Given the description of an element on the screen output the (x, y) to click on. 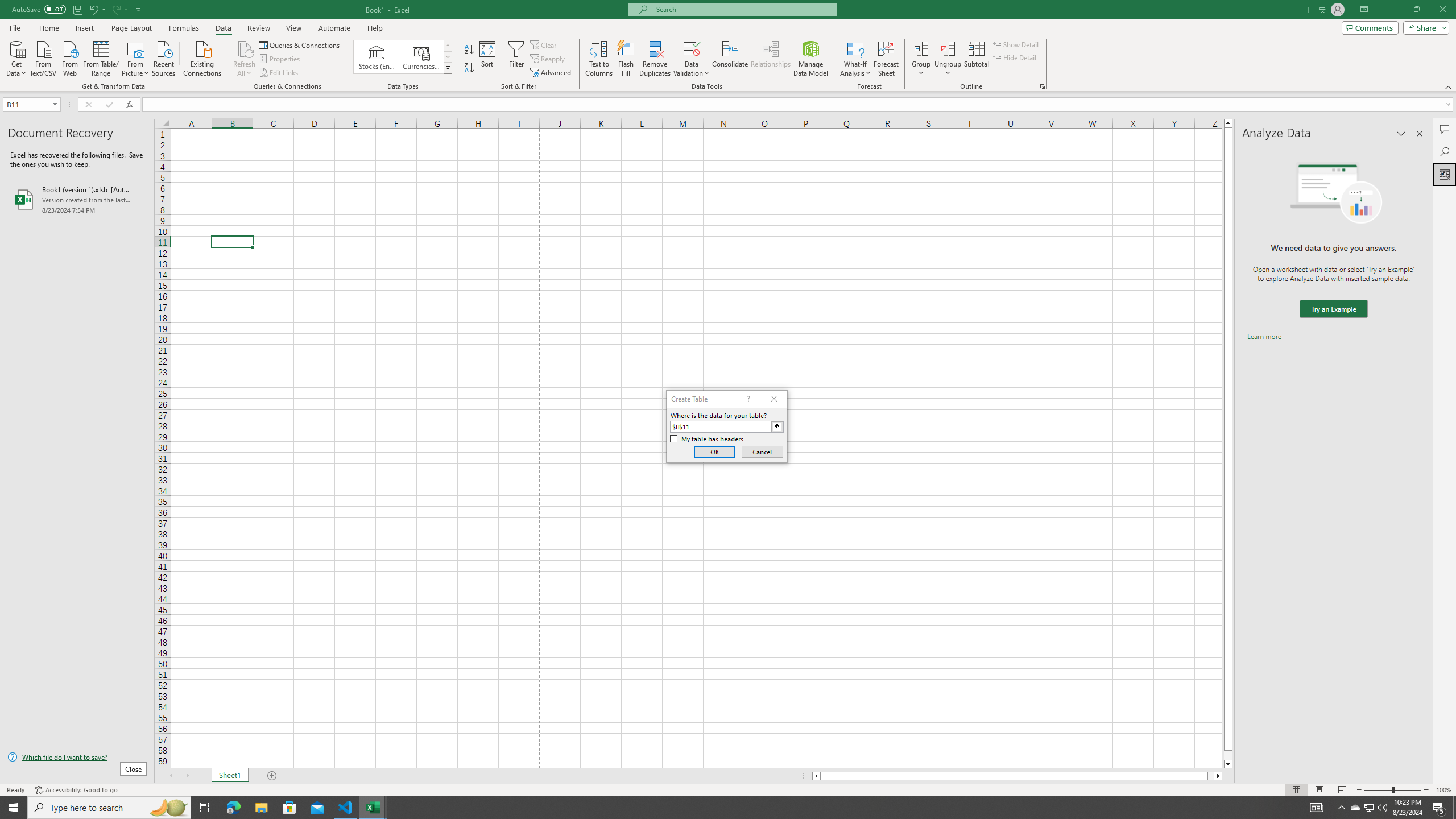
Sort Z to A (469, 67)
